Given the description of an element on the screen output the (x, y) to click on. 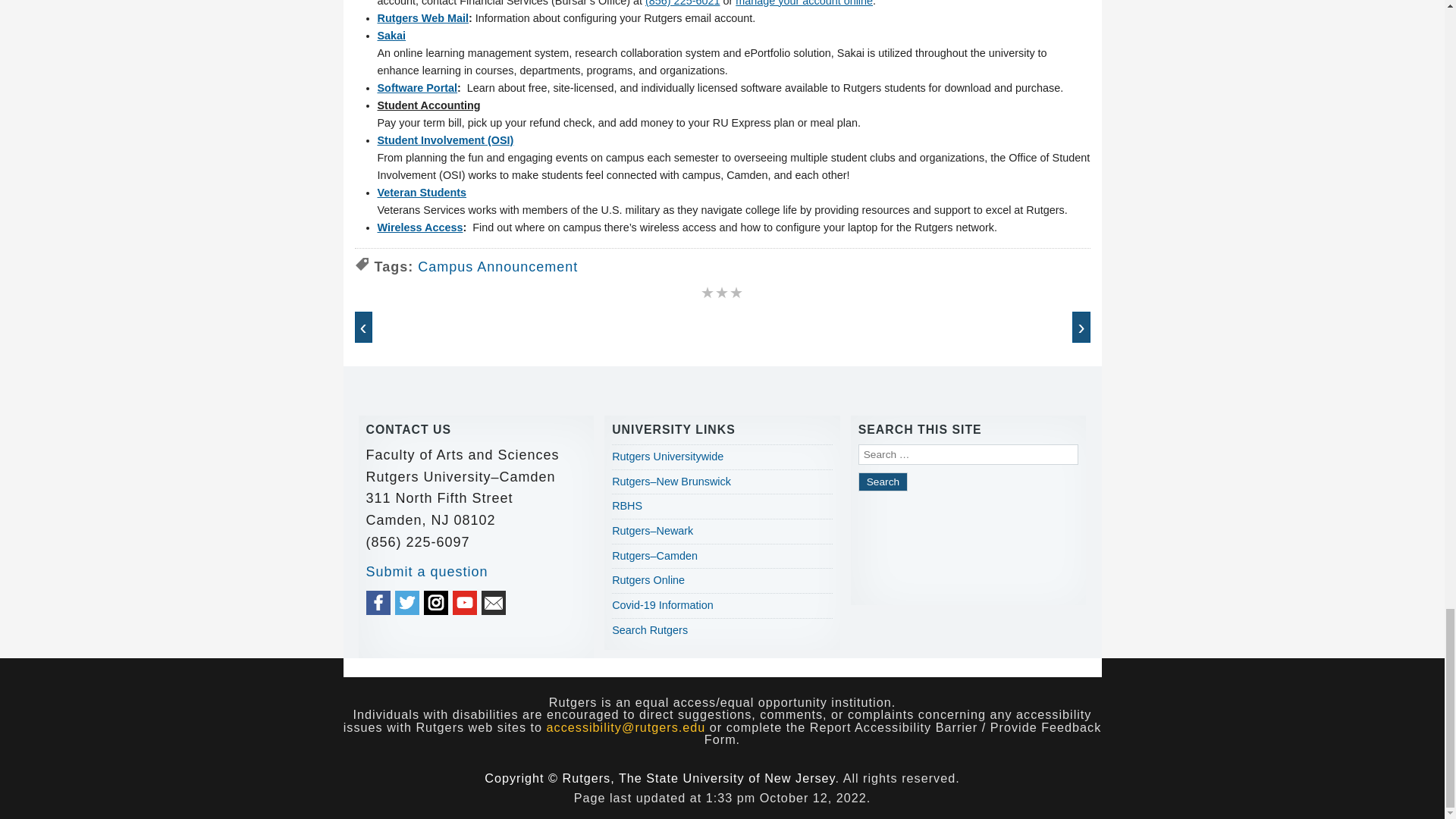
FAS Facebook Page (377, 602)
Search (883, 481)
Search (883, 481)
FAS Instagram (435, 602)
FAS YouTube Channel (464, 602)
FAS Twitter (406, 602)
